Given the description of an element on the screen output the (x, y) to click on. 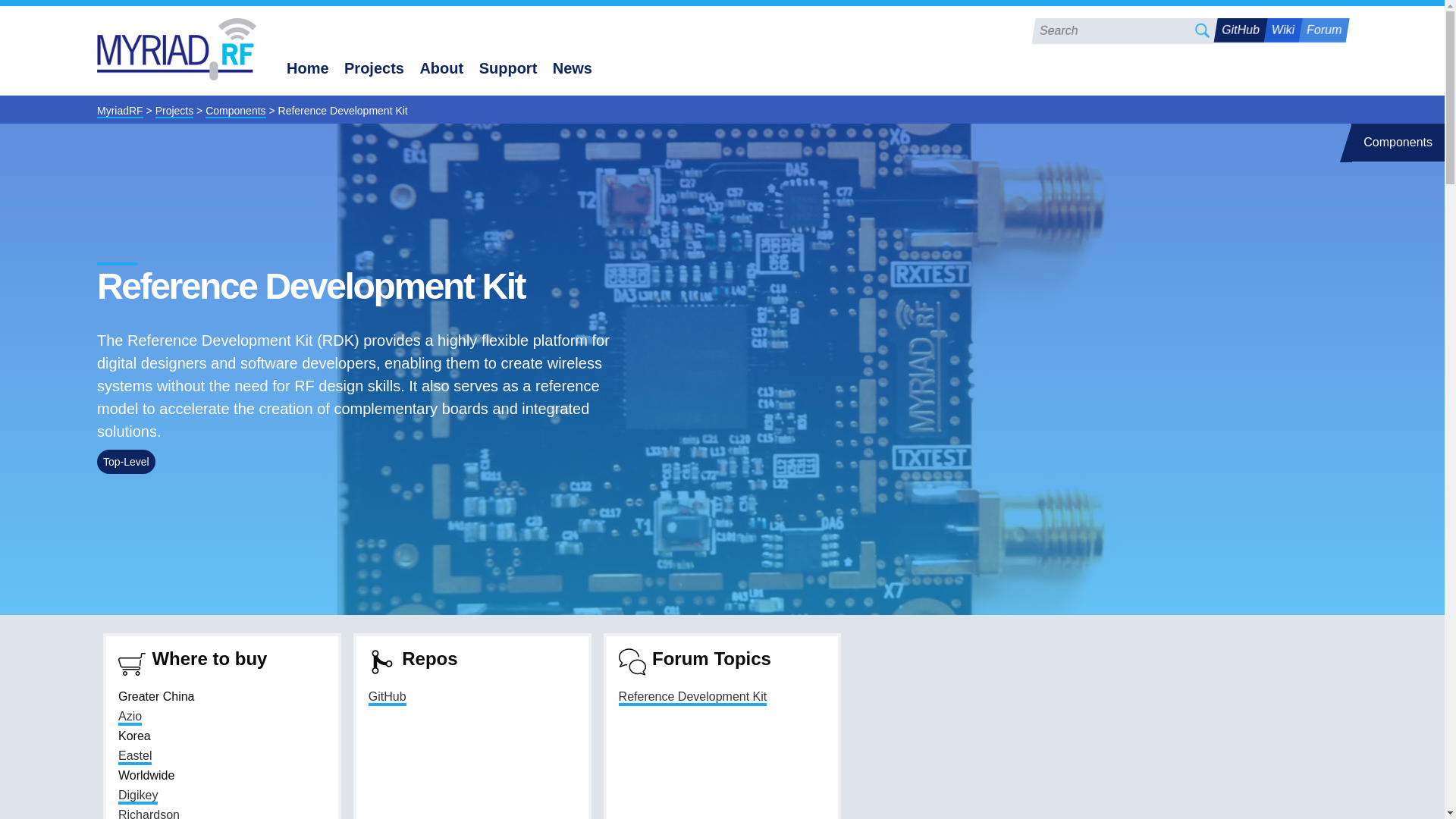
MyriadRF (119, 110)
Go to the homepage of this website (176, 50)
GitHub Repository (387, 697)
Support (508, 67)
Components (234, 110)
Go to Components. (234, 110)
GitHub (1237, 30)
Home (307, 67)
GitHub (387, 697)
News (572, 67)
